Given the description of an element on the screen output the (x, y) to click on. 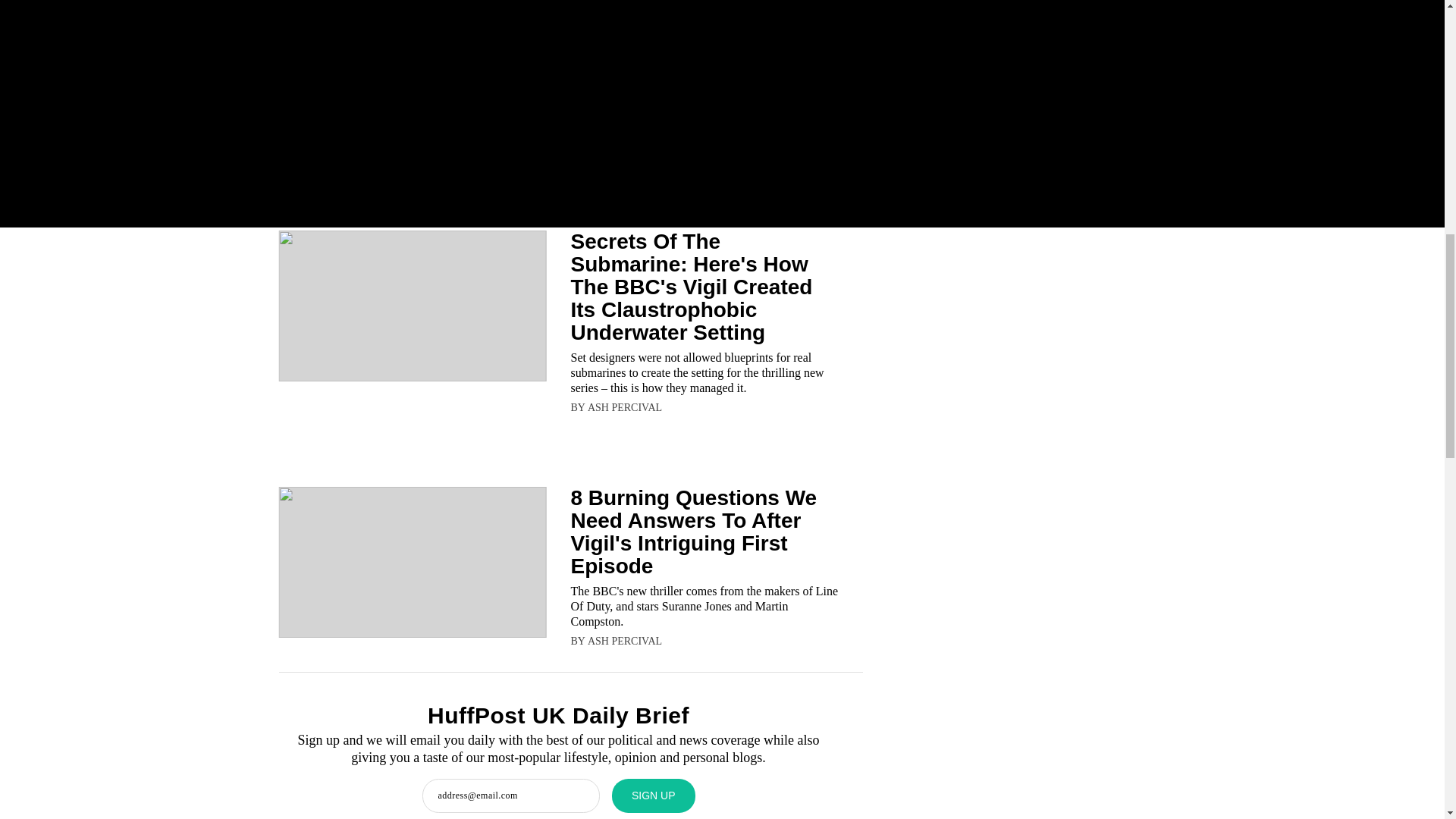
SIGN UP (653, 795)
